Given the description of an element on the screen output the (x, y) to click on. 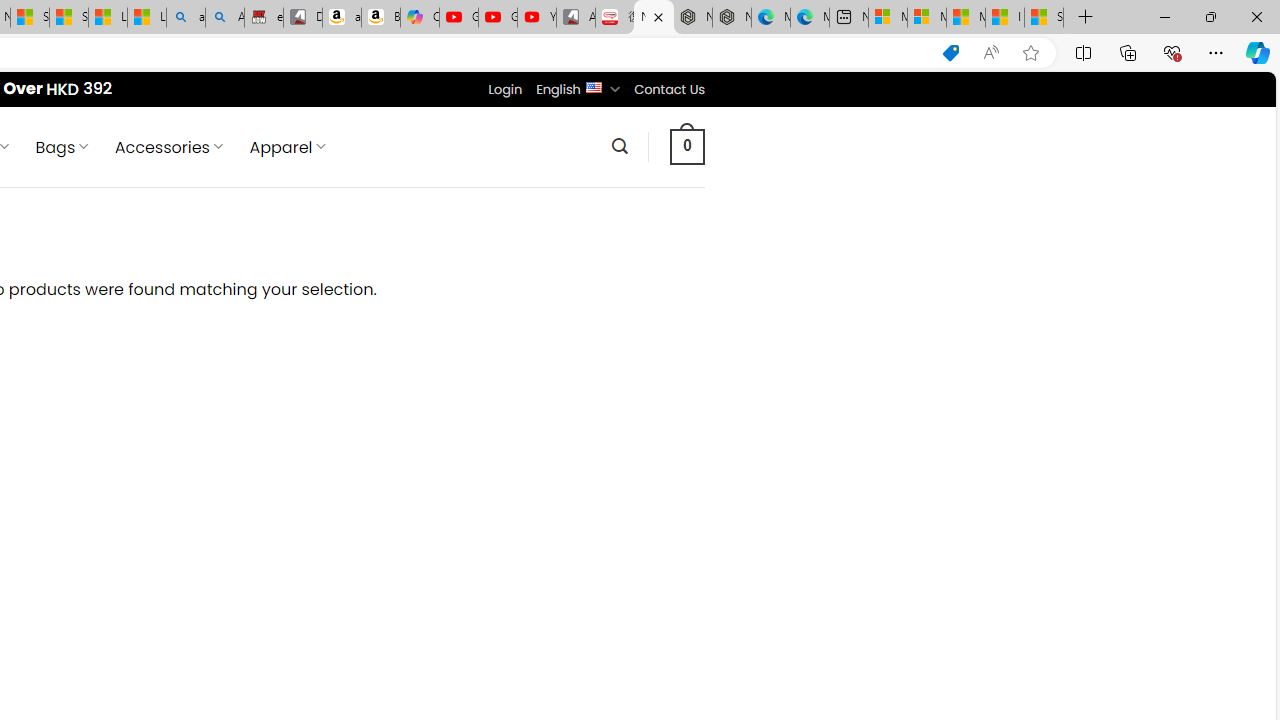
English (592, 86)
Nordace - Nordace has arrived Hong Kong (732, 17)
Amazon Echo Dot PNG - Search Images (225, 17)
Copilot (419, 17)
Microsoft Start (966, 17)
Search (619, 146)
I Gained 20 Pounds of Muscle in 30 Days! | Watch (1004, 17)
YouTube Kids - An App Created for Kids to Explore Content (536, 17)
Login (505, 89)
